Given the description of an element on the screen output the (x, y) to click on. 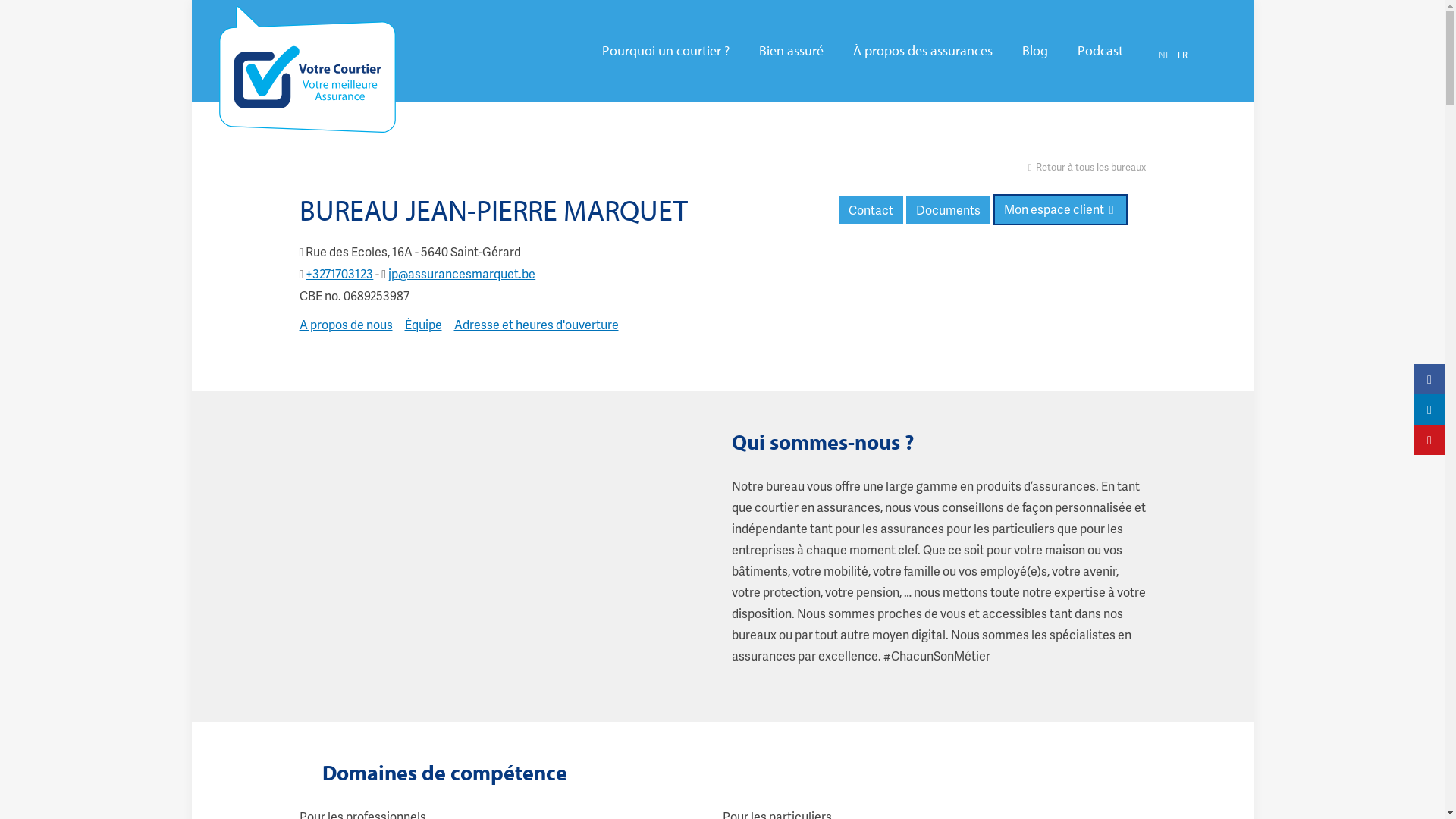
Documents Element type: text (948, 209)
Pourquoi un courtier ? Element type: text (665, 50)
Blog Element type: text (1034, 50)
Contact Element type: text (870, 209)
+3271703123 Element type: text (339, 273)
Mon espace client Element type: text (1060, 209)
jp@assurancesmarquet.be Element type: text (461, 273)
A propos de nous Element type: text (345, 323)
Podcast Element type: text (1099, 50)
NL Element type: text (1164, 54)
FR Element type: text (1181, 54)
Adresse et heures d'ouverture Element type: text (535, 323)
